Given the description of an element on the screen output the (x, y) to click on. 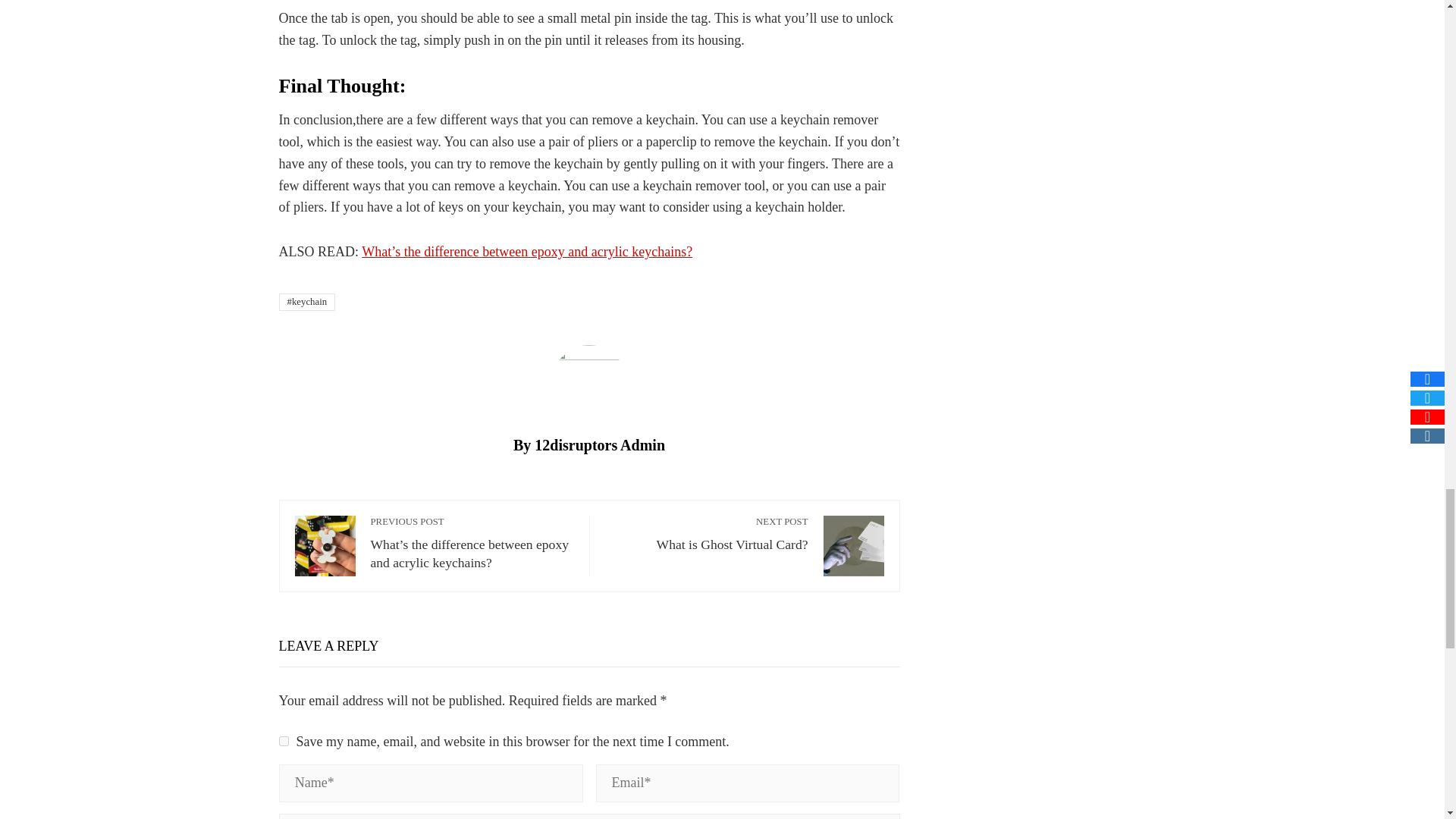
yes (283, 741)
